Given the description of an element on the screen output the (x, y) to click on. 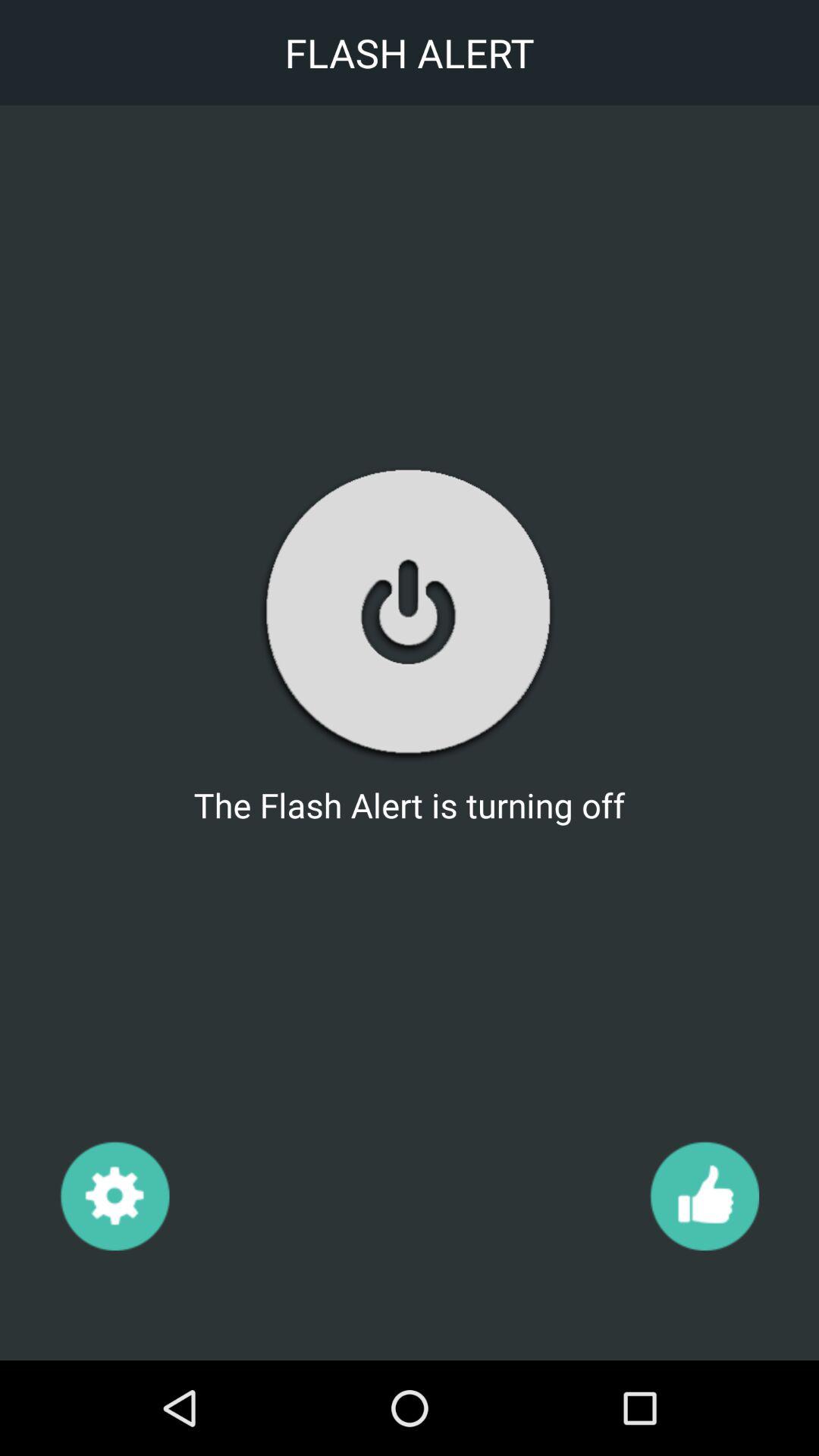
turn on the icon at the bottom left corner (114, 1195)
